Given the description of an element on the screen output the (x, y) to click on. 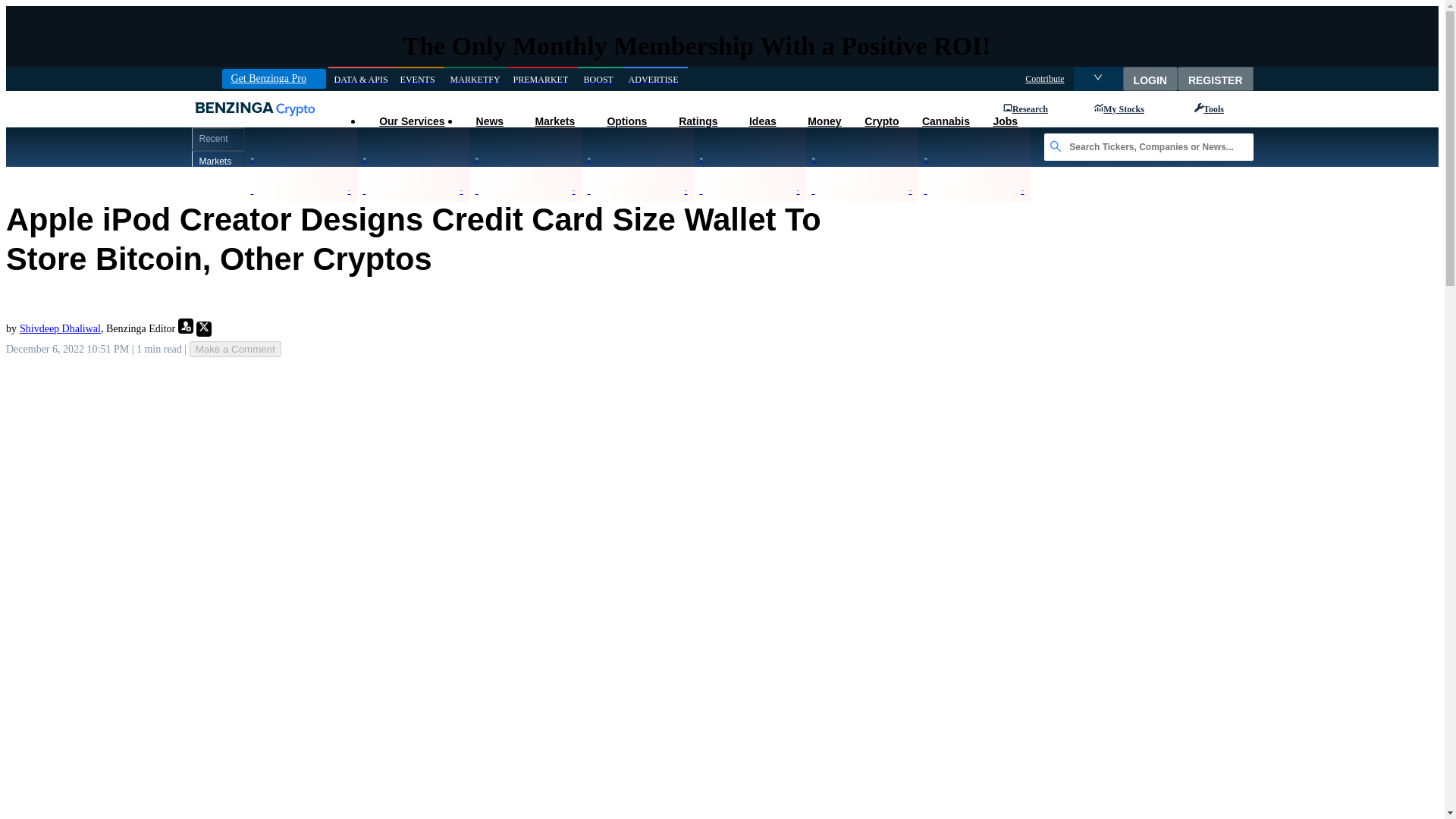
BOOST (600, 78)
EVENTS (419, 78)
News (489, 121)
LOGIN (1149, 78)
REGISTER (1215, 78)
ADVERTISE (655, 78)
MARKETFY (475, 78)
Our Services (411, 121)
Contribute (1044, 78)
Our Services (411, 121)
Get Benzinga Pro (272, 78)
News (489, 121)
PREMARKET (542, 78)
